Given the description of an element on the screen output the (x, y) to click on. 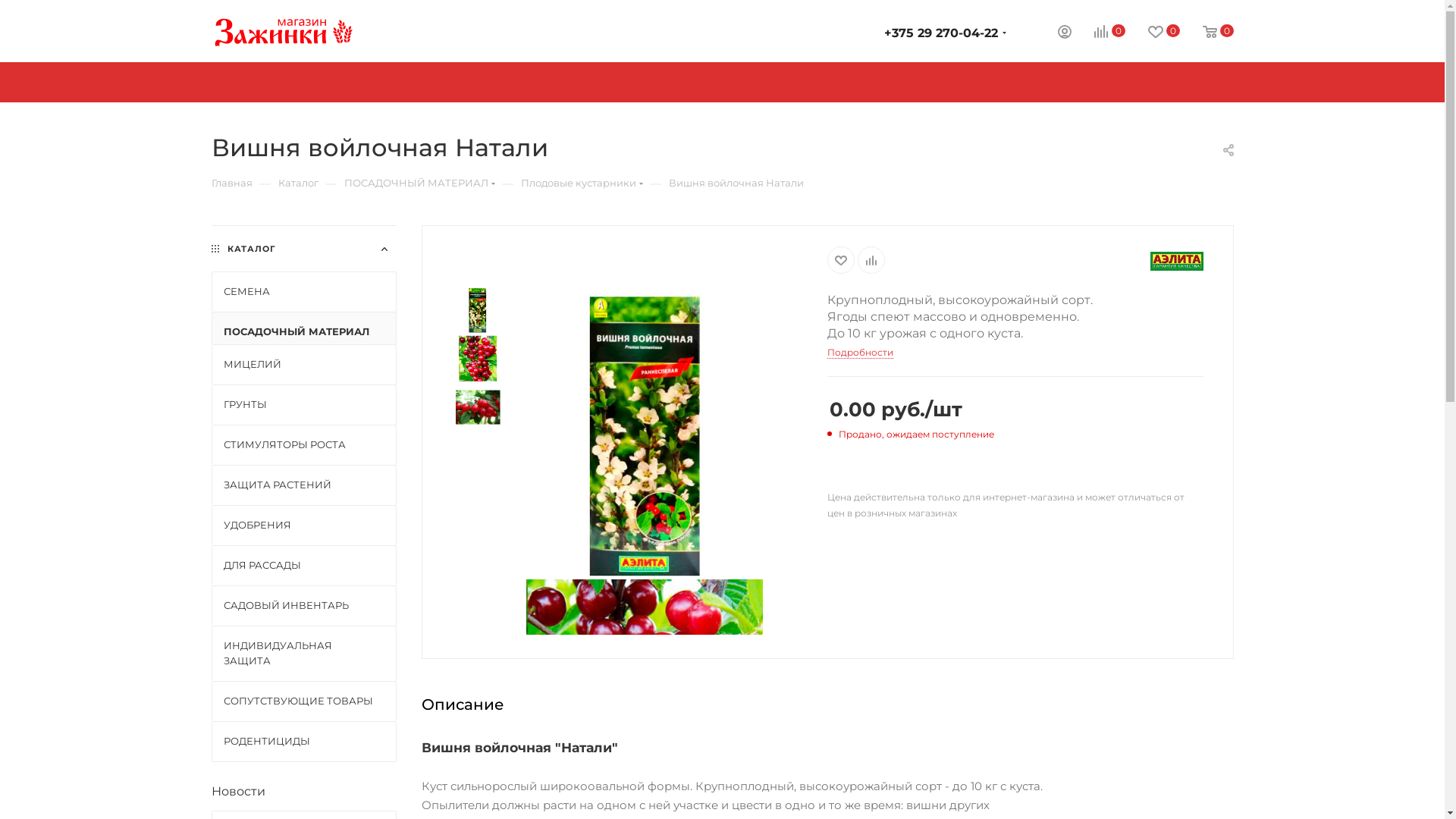
0 Element type: text (1152, 31)
zazhinki.by Element type: hover (282, 31)
+375 29 270-04-22 Element type: text (940, 32)
0 Element type: text (1097, 31)
0 Element type: text (1206, 31)
